Given the description of an element on the screen output the (x, y) to click on. 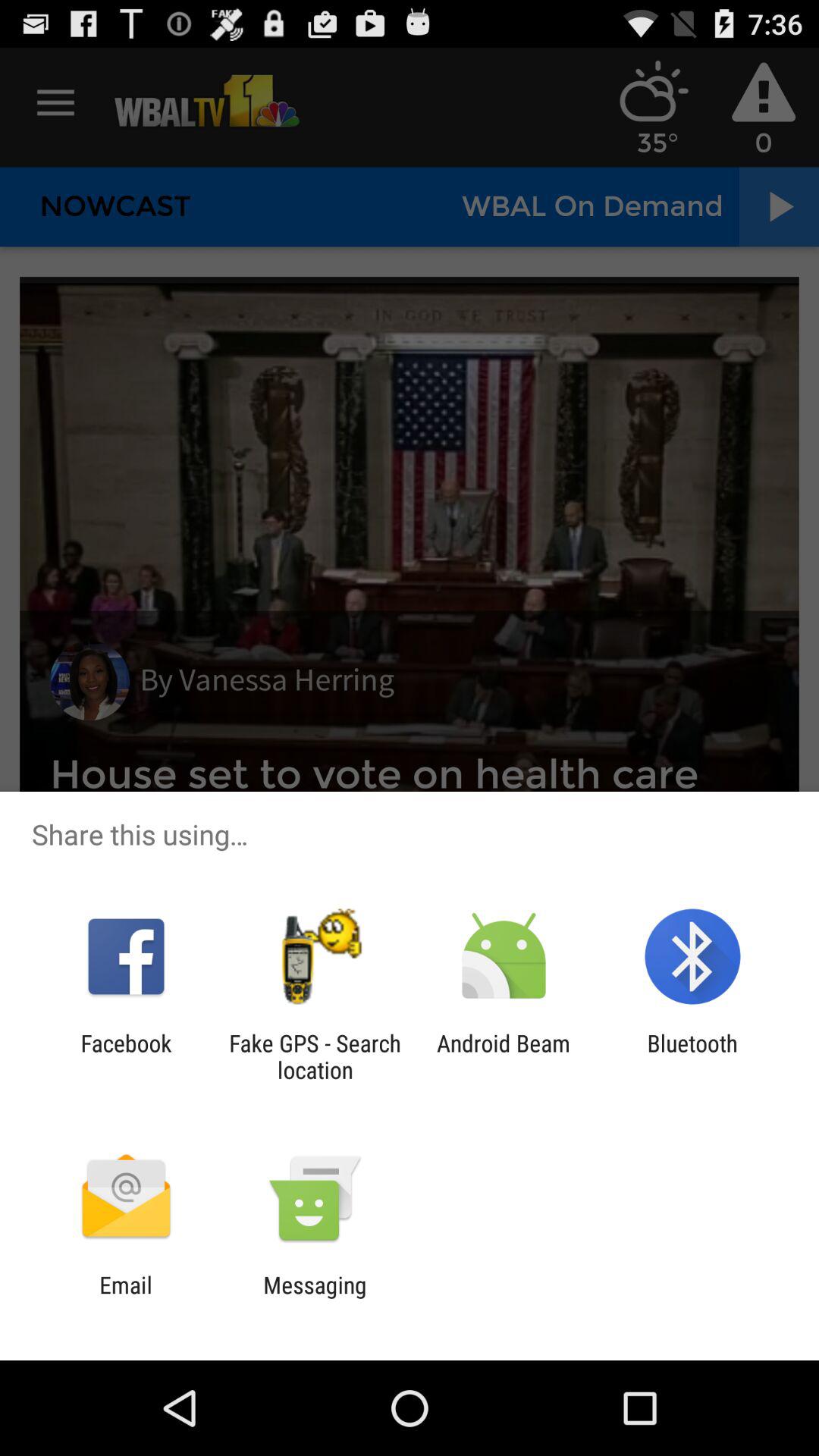
tap the item next to android beam icon (692, 1056)
